Given the description of an element on the screen output the (x, y) to click on. 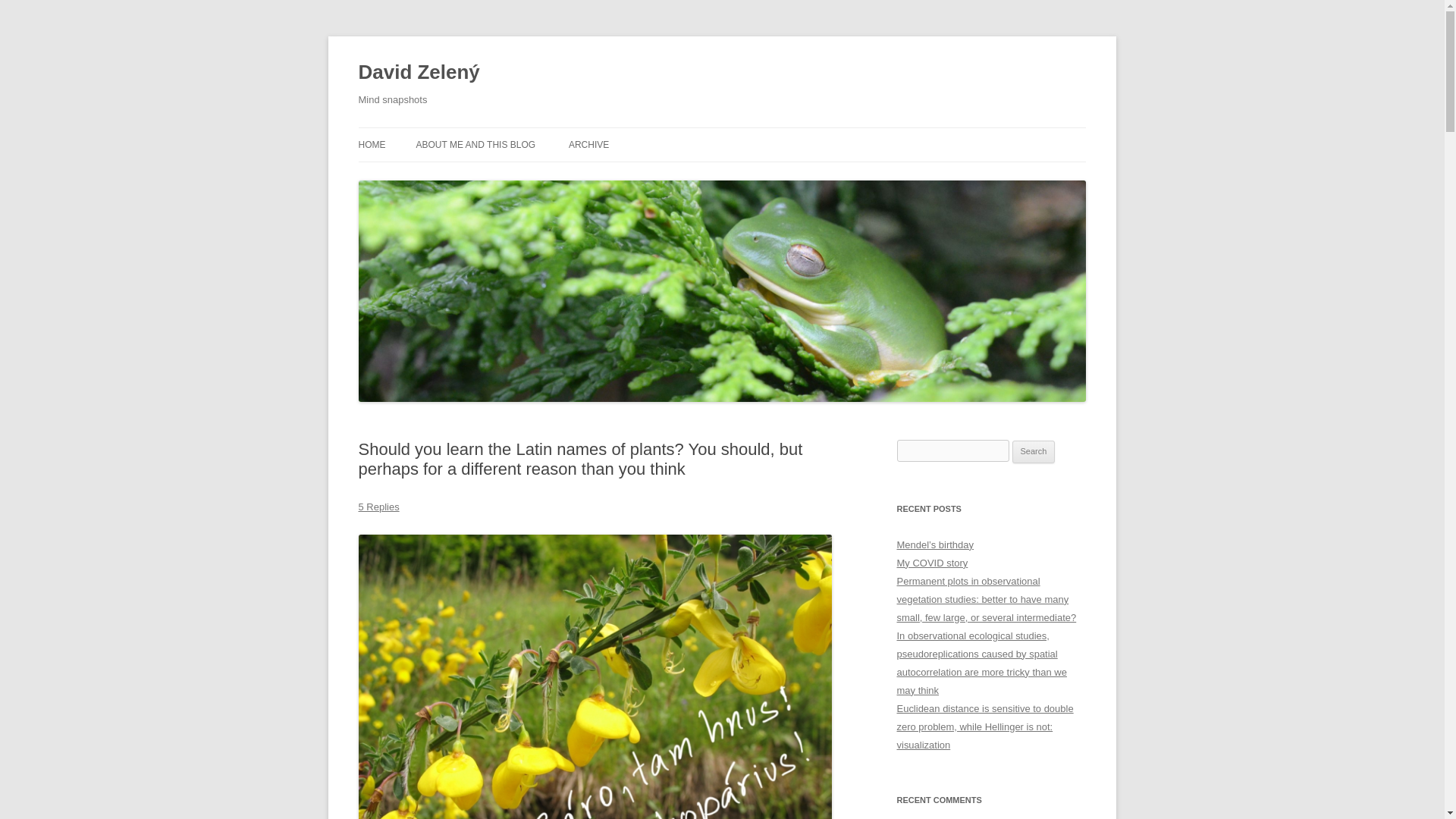
My COVID story (932, 562)
ARCHIVE (588, 144)
ABOUT ME AND THIS BLOG (474, 144)
5 Replies (378, 506)
Search (1033, 451)
Search (1033, 451)
